Given the description of an element on the screen output the (x, y) to click on. 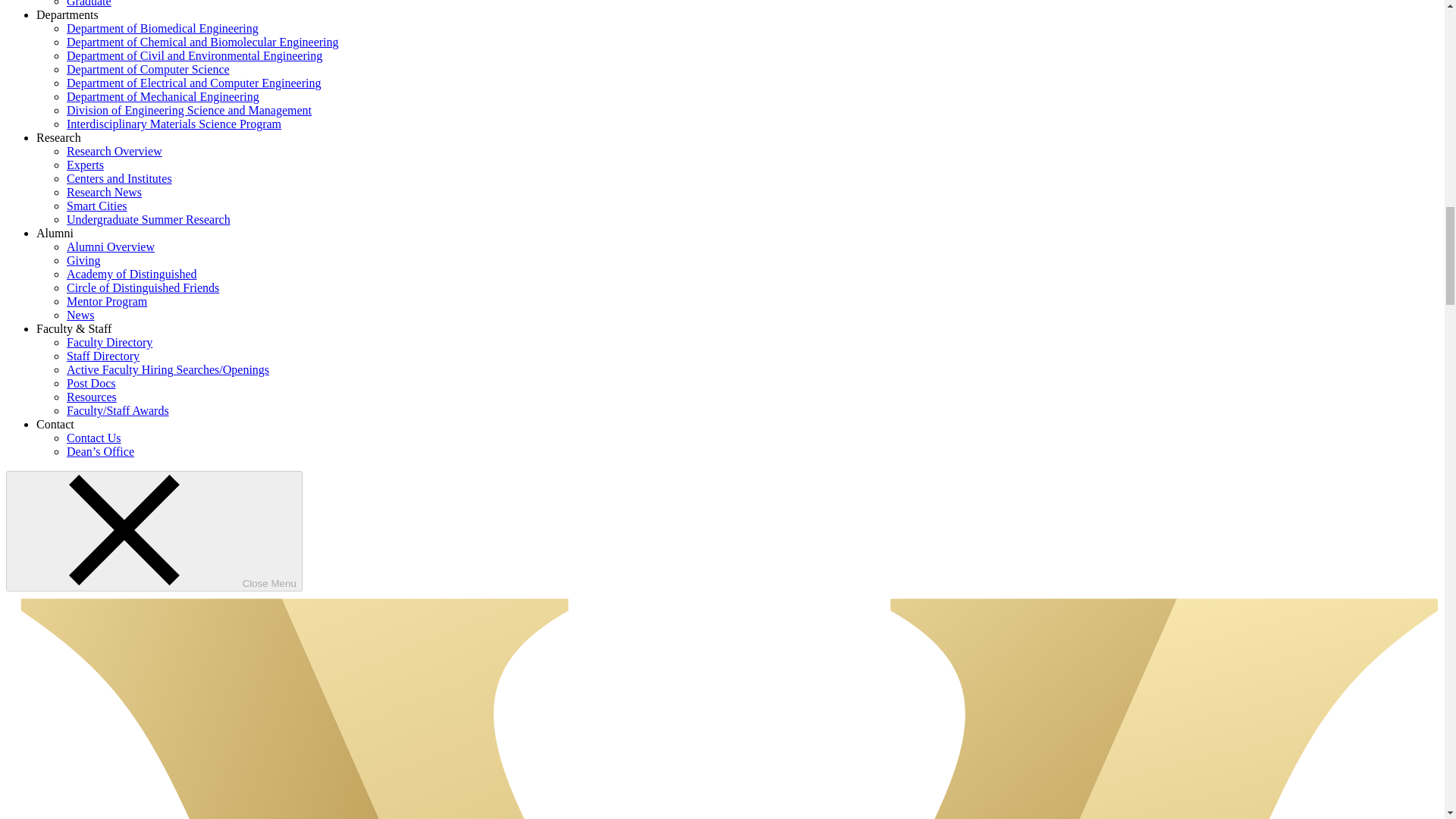
Research News (103, 192)
Division of Engineering Science and Management (188, 110)
Graduate (89, 3)
Research (58, 137)
Research Overview (113, 151)
Centers and Institutes (118, 178)
Department of Computer Science (148, 69)
Giving (83, 259)
Department of Chemical and Biomolecular Engineering (202, 42)
Department of Mechanical Engineering (162, 96)
Experts (84, 164)
Department of Biomedical Engineering (162, 28)
Smart Cities (97, 205)
Alumni Overview (110, 246)
Department of Electrical and Computer Engineering (193, 82)
